Given the description of an element on the screen output the (x, y) to click on. 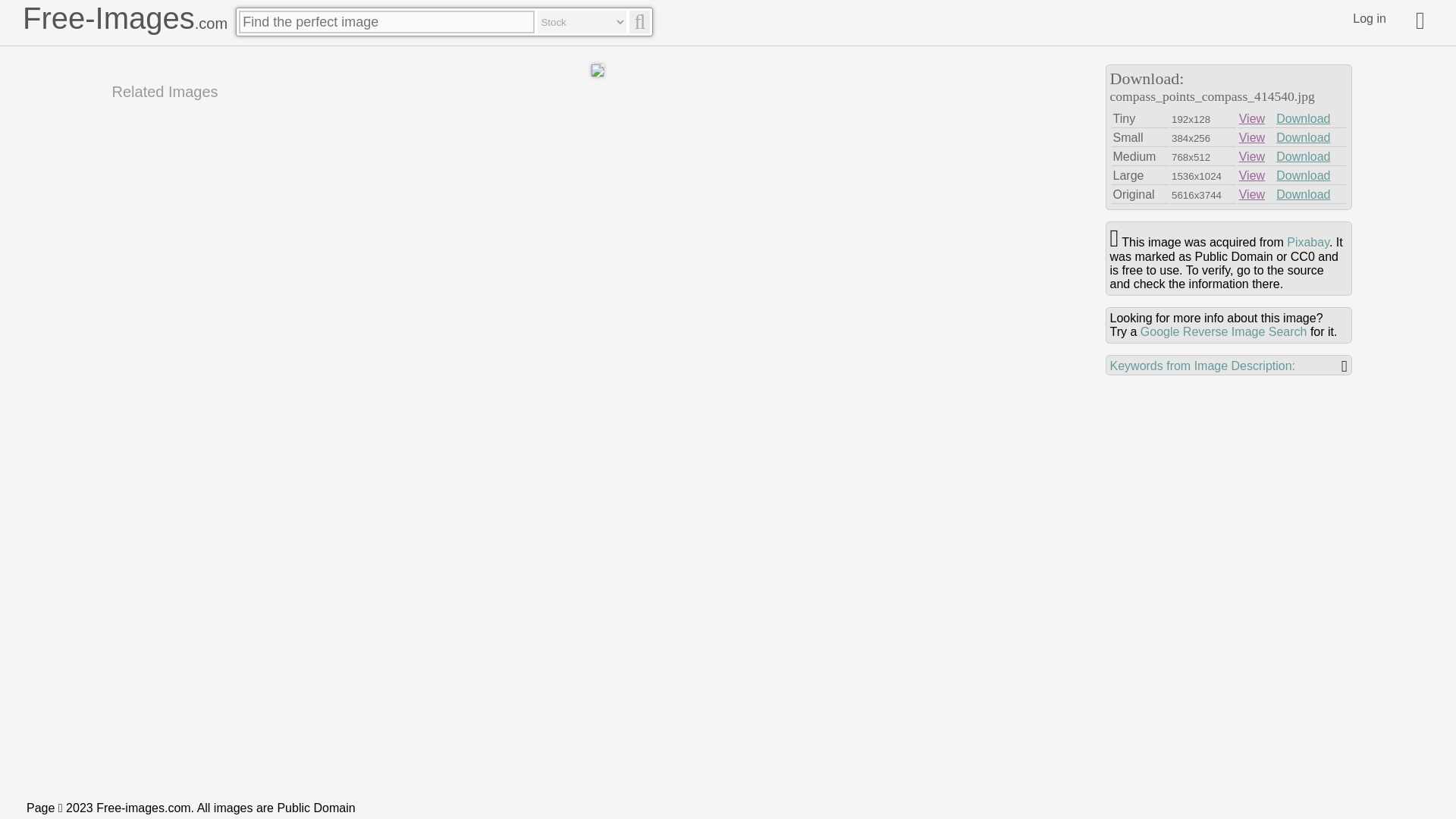
Download (1303, 194)
View (1252, 118)
View (1252, 155)
View (1252, 174)
Download (1303, 118)
Download (1303, 174)
Free-Images.com (125, 18)
View (1252, 137)
Pixabay (1308, 241)
Google Reverse Image Search (1223, 331)
Download (1303, 137)
Download (1303, 155)
View (1252, 194)
